Given the description of an element on the screen output the (x, y) to click on. 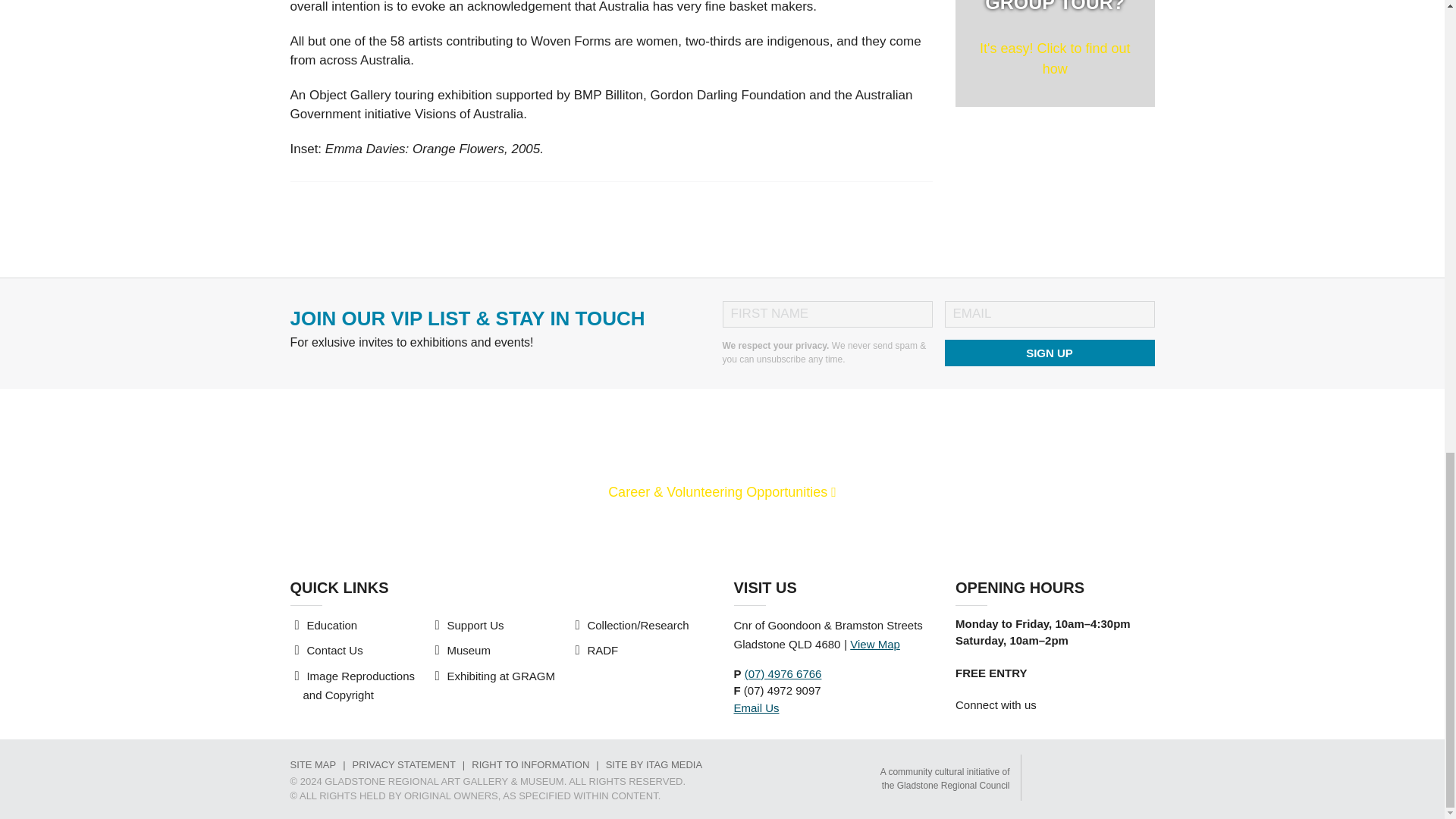
Education (330, 625)
Contact (874, 644)
Museum (468, 649)
Sign up (1049, 352)
RADF (601, 649)
Itag Media (653, 764)
Contact Us (1054, 53)
Support Us (333, 649)
Sign up (474, 625)
